Given the description of an element on the screen output the (x, y) to click on. 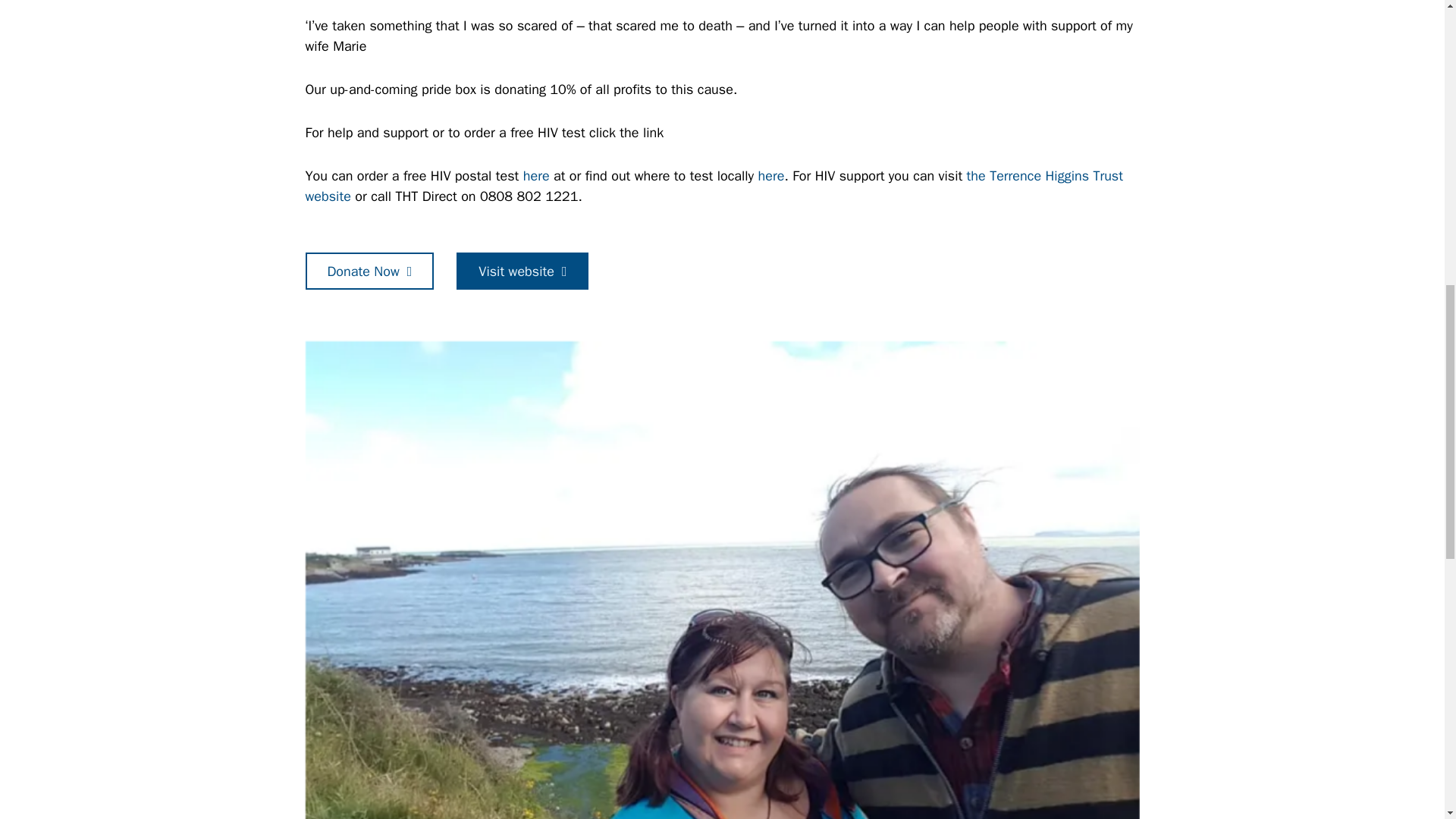
Donate Now (368, 270)
here (771, 175)
the Terrence Higgins Trust website (713, 185)
here (536, 175)
Visit website (522, 270)
